Given the description of an element on the screen output the (x, y) to click on. 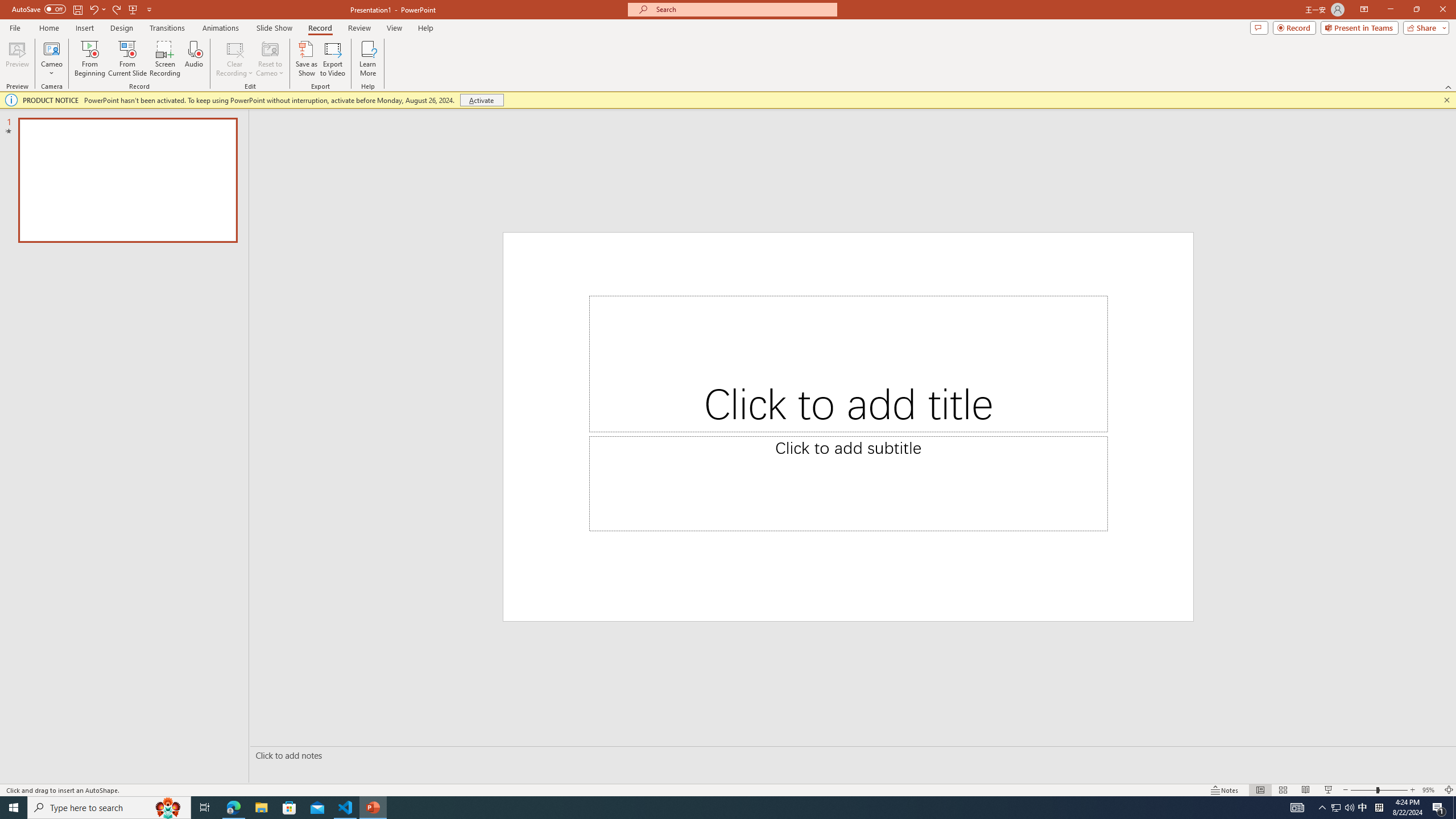
Close this message (1446, 99)
